Given the description of an element on the screen output the (x, y) to click on. 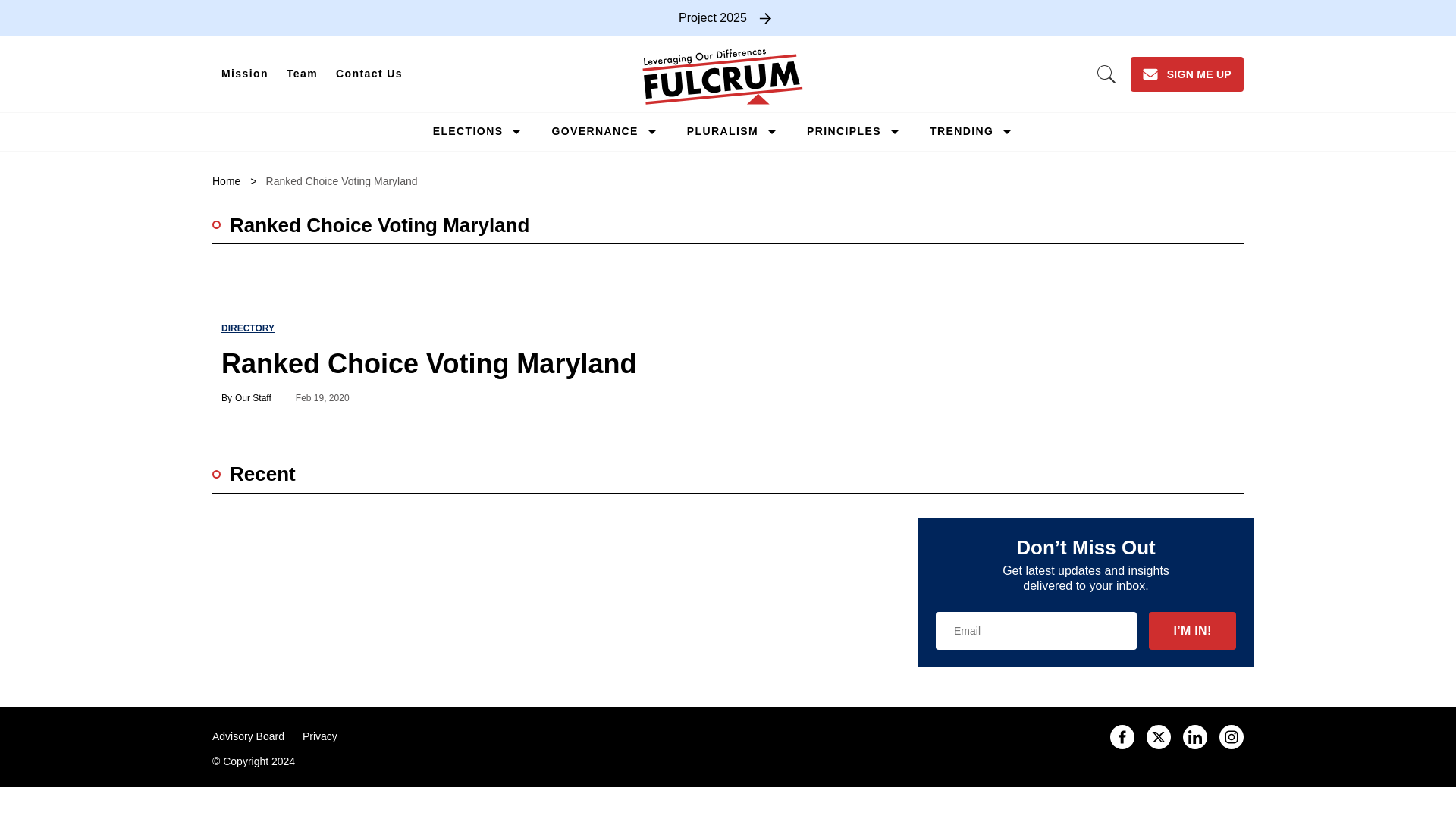
Contact Us (369, 73)
Mission (245, 73)
Team (302, 73)
Open Search (1106, 74)
ELECTIONS (467, 131)
Open Search (1106, 74)
SIGN ME UP (1187, 73)
GOVERNANCE (594, 131)
